Given the description of an element on the screen output the (x, y) to click on. 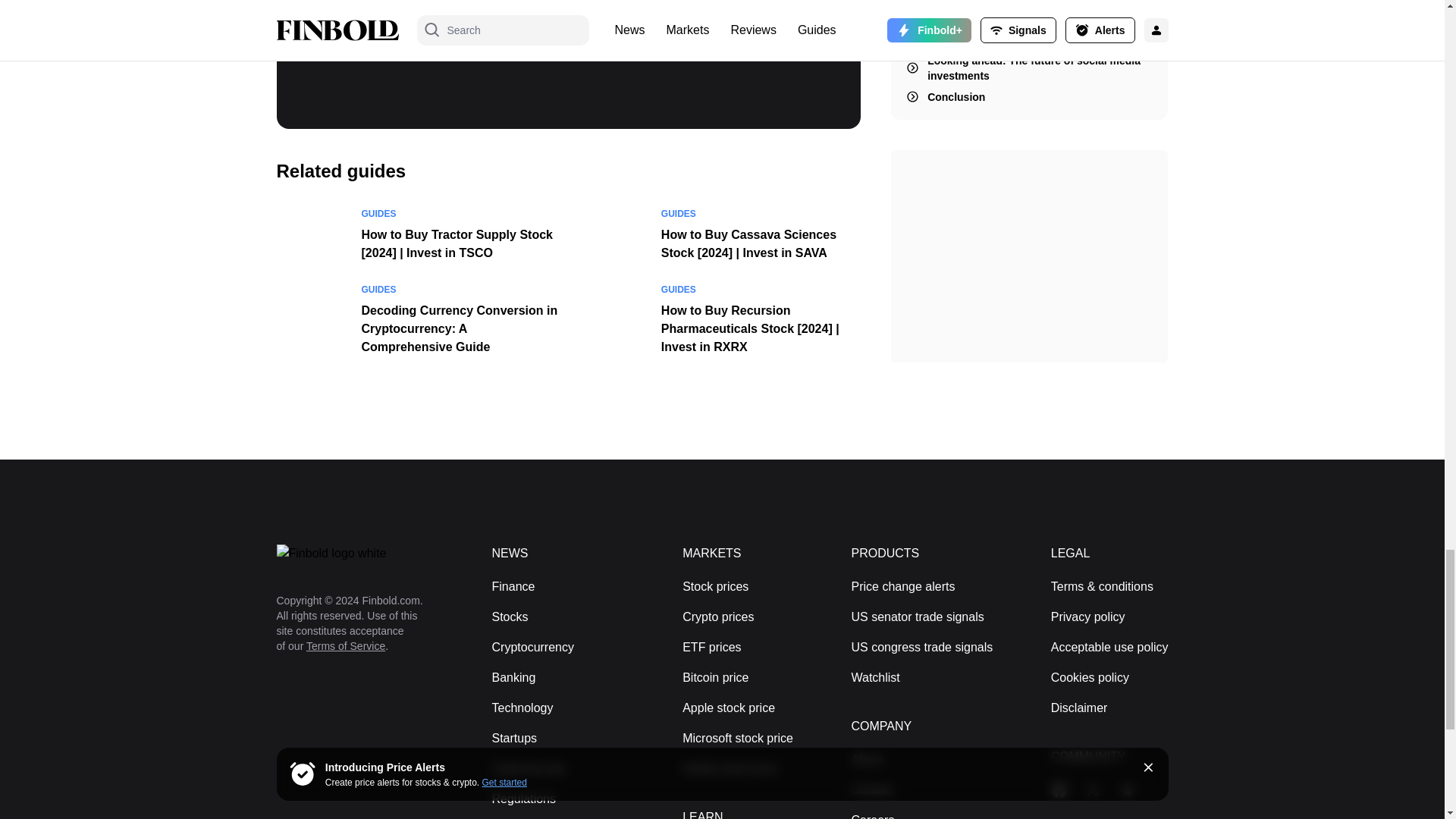
Finbold homepage (359, 553)
Finance News (513, 585)
